Given the description of an element on the screen output the (x, y) to click on. 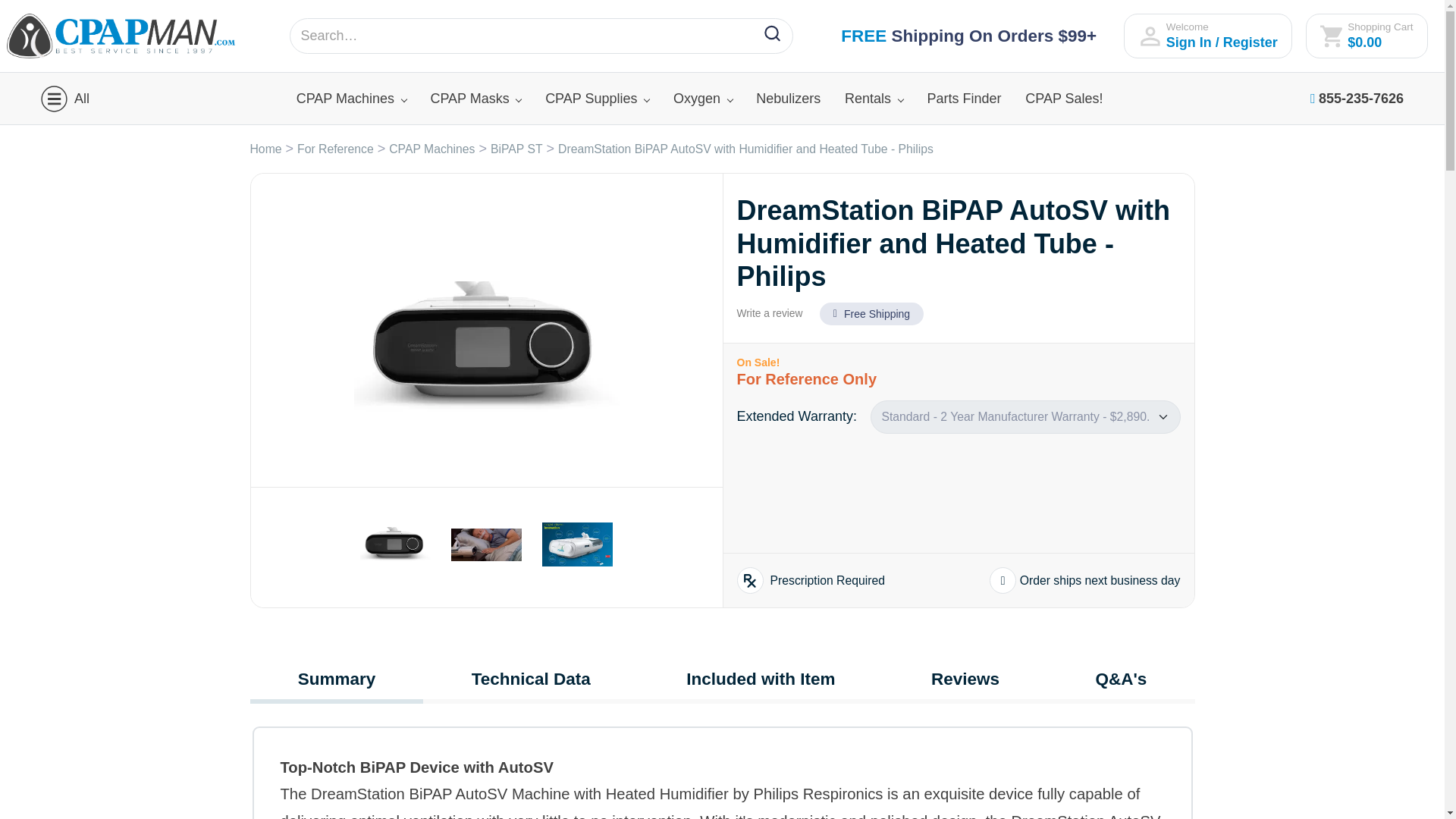
Nebulizers (788, 98)
